Given the description of an element on the screen output the (x, y) to click on. 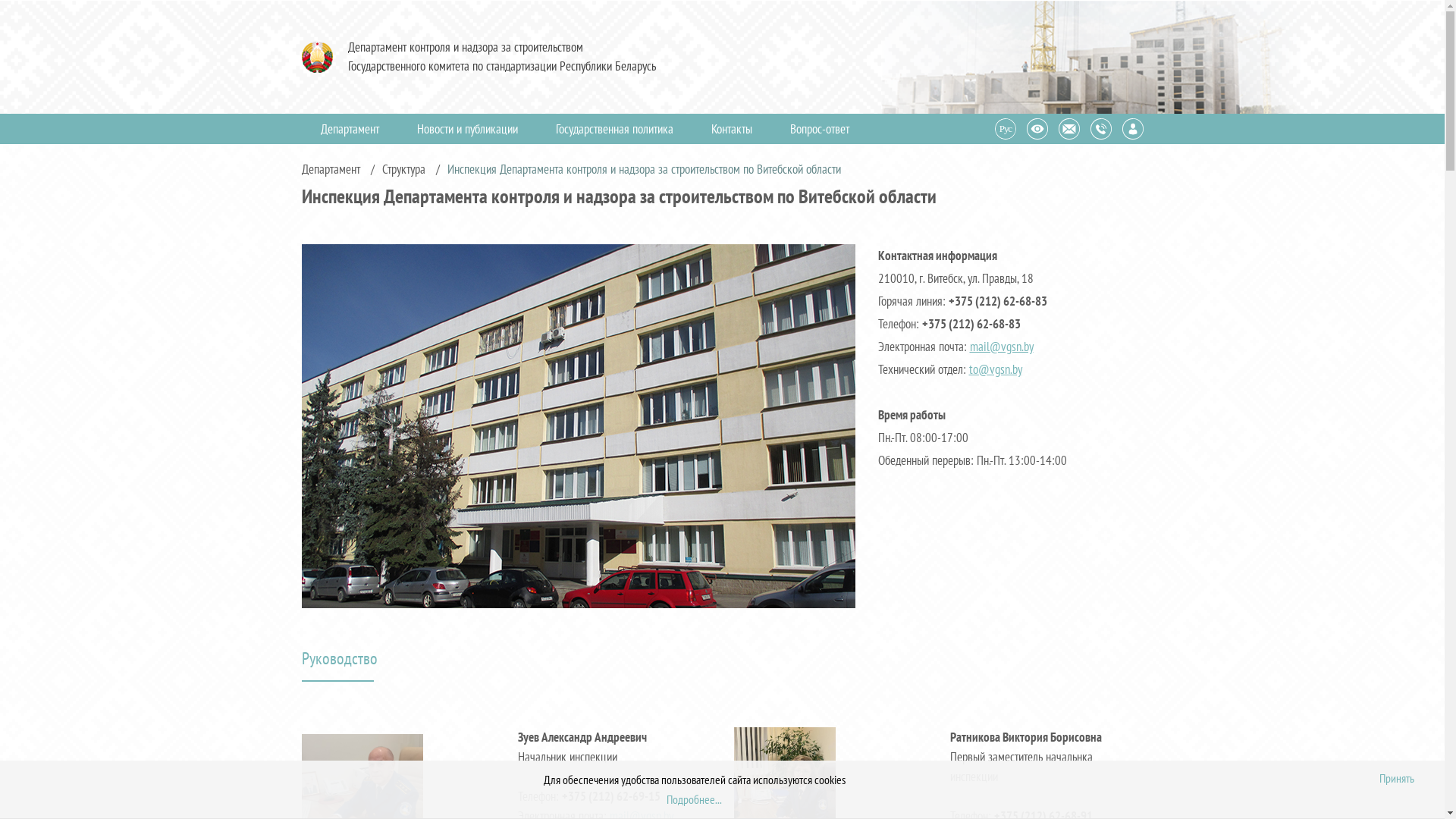
to@vgsn.by Element type: text (995, 368)
mail@vgsn.by Element type: text (1000, 346)
